Given the description of an element on the screen output the (x, y) to click on. 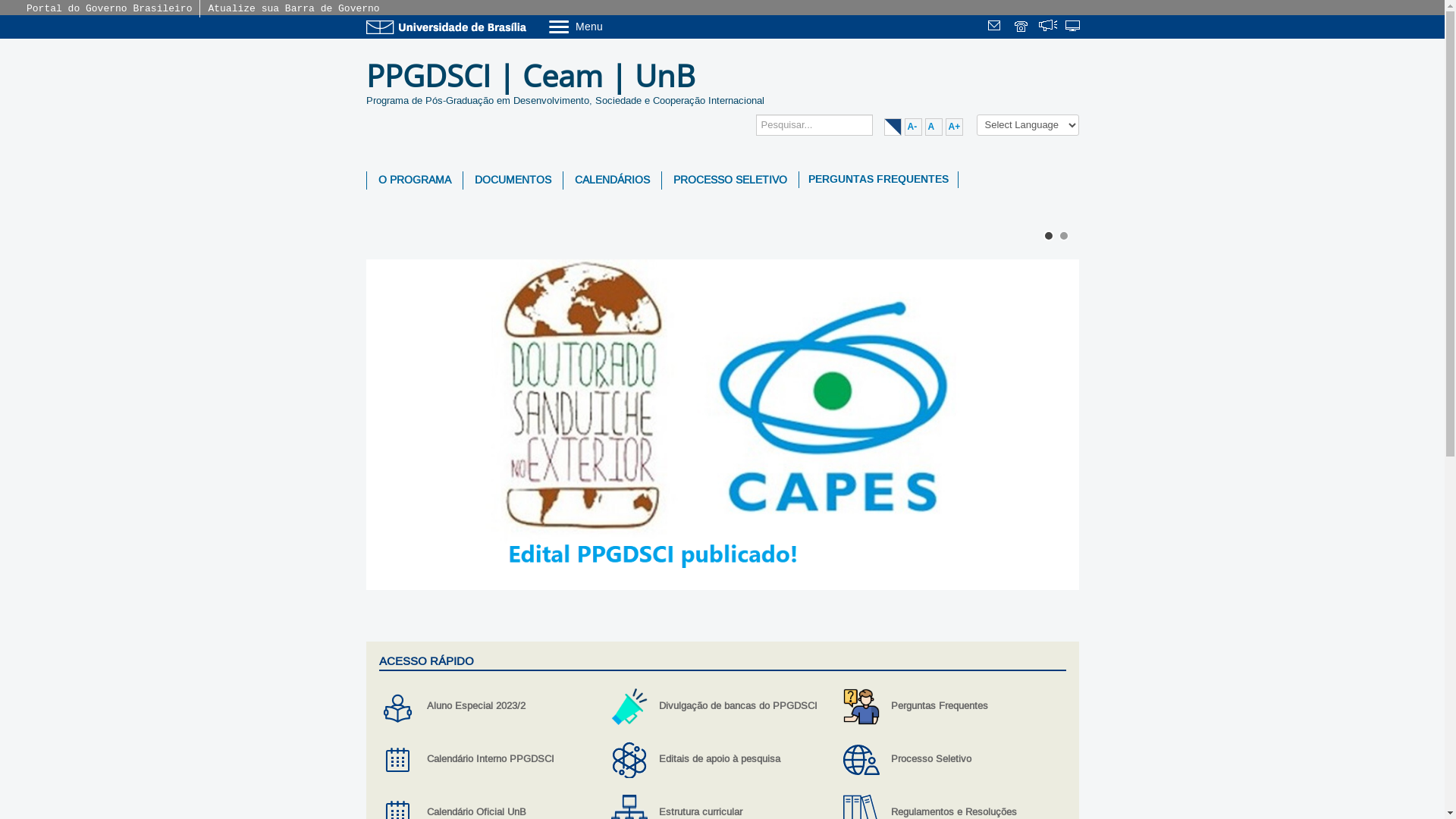
Sistemas Element type: hover (1073, 27)
  Element type: text (996, 27)
  Element type: text (1047, 27)
A Element type: text (933, 126)
A- Element type: text (912, 126)
Atualize sua Barra de Governo Element type: text (293, 8)
Processo Seletivo Element type: text (954, 759)
Portal do Governo Brasileiro Element type: text (108, 8)
Fala.BR Element type: hover (1047, 27)
Menu Element type: text (613, 25)
Webmail Element type: hover (996, 27)
Ir para o Portal da UnB Element type: hover (448, 26)
A+ Element type: text (953, 126)
  Element type: text (1073, 27)
Telefones da UnB Element type: hover (1022, 27)
Aluno Especial 2023/2 Element type: text (490, 706)
  Element type: text (1022, 27)
PERGUNTAS FREQUENTES Element type: text (878, 179)
Perguntas Frequentes Element type: text (954, 706)
